Given the description of an element on the screen output the (x, y) to click on. 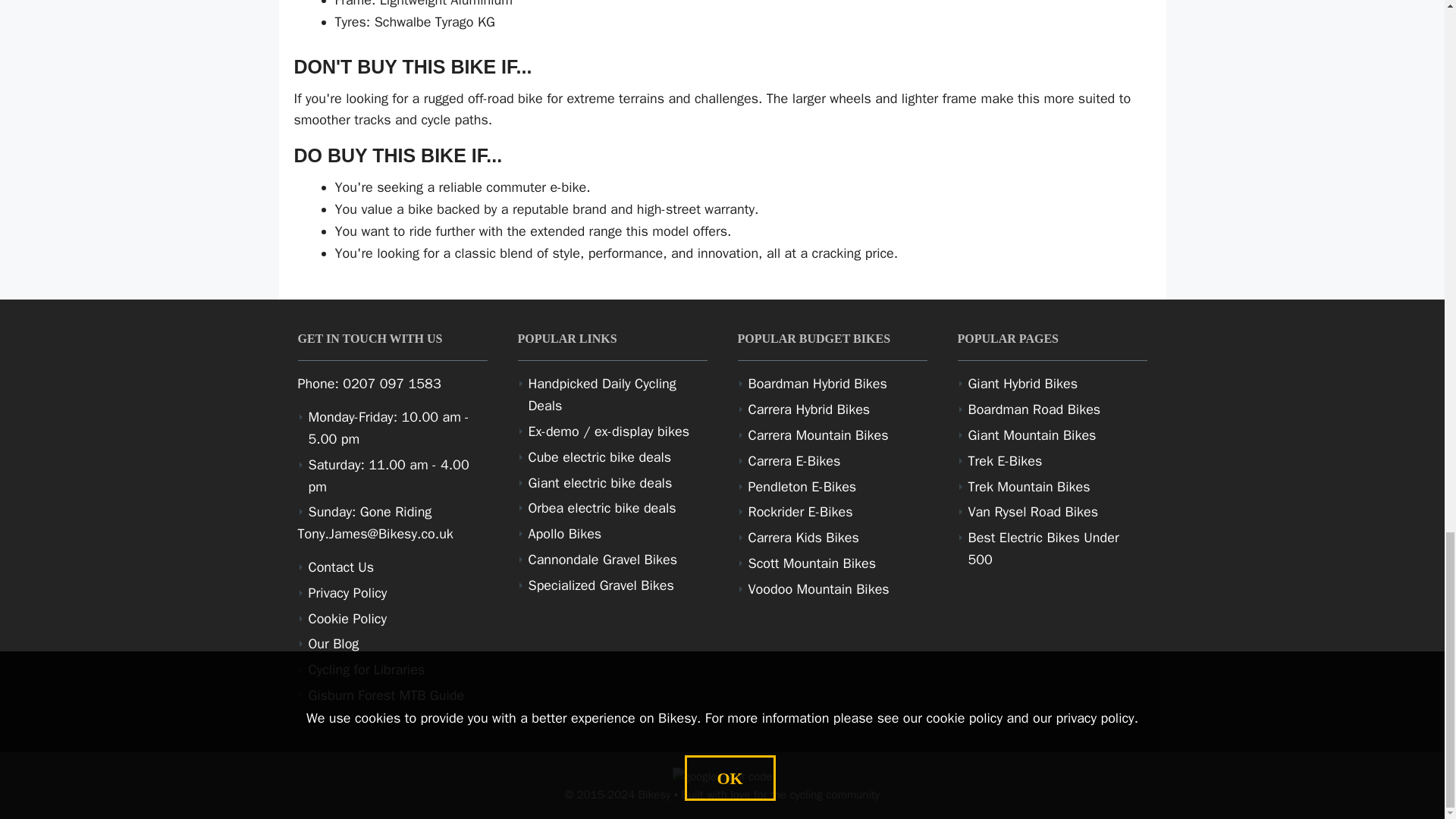
Giant electric bike deals (599, 483)
Carrera E-Bikes (794, 460)
Cycling for Libraries (366, 669)
Gisburn Forest MTB Guide (385, 695)
Contact Us (340, 566)
Cube Electric Bike deals (599, 457)
Cannondale Gravel Bikes (602, 559)
Giant Electric Bike deals (599, 483)
Boardman Hybrid Bikes (817, 383)
Privacy Policy (347, 592)
Apollo Bikes (564, 533)
Handpicked Daily Cycling Deals (601, 394)
Cookie Policy (347, 618)
Orbea Electric Bike deals (601, 507)
Our Blog (332, 643)
